Given the description of an element on the screen output the (x, y) to click on. 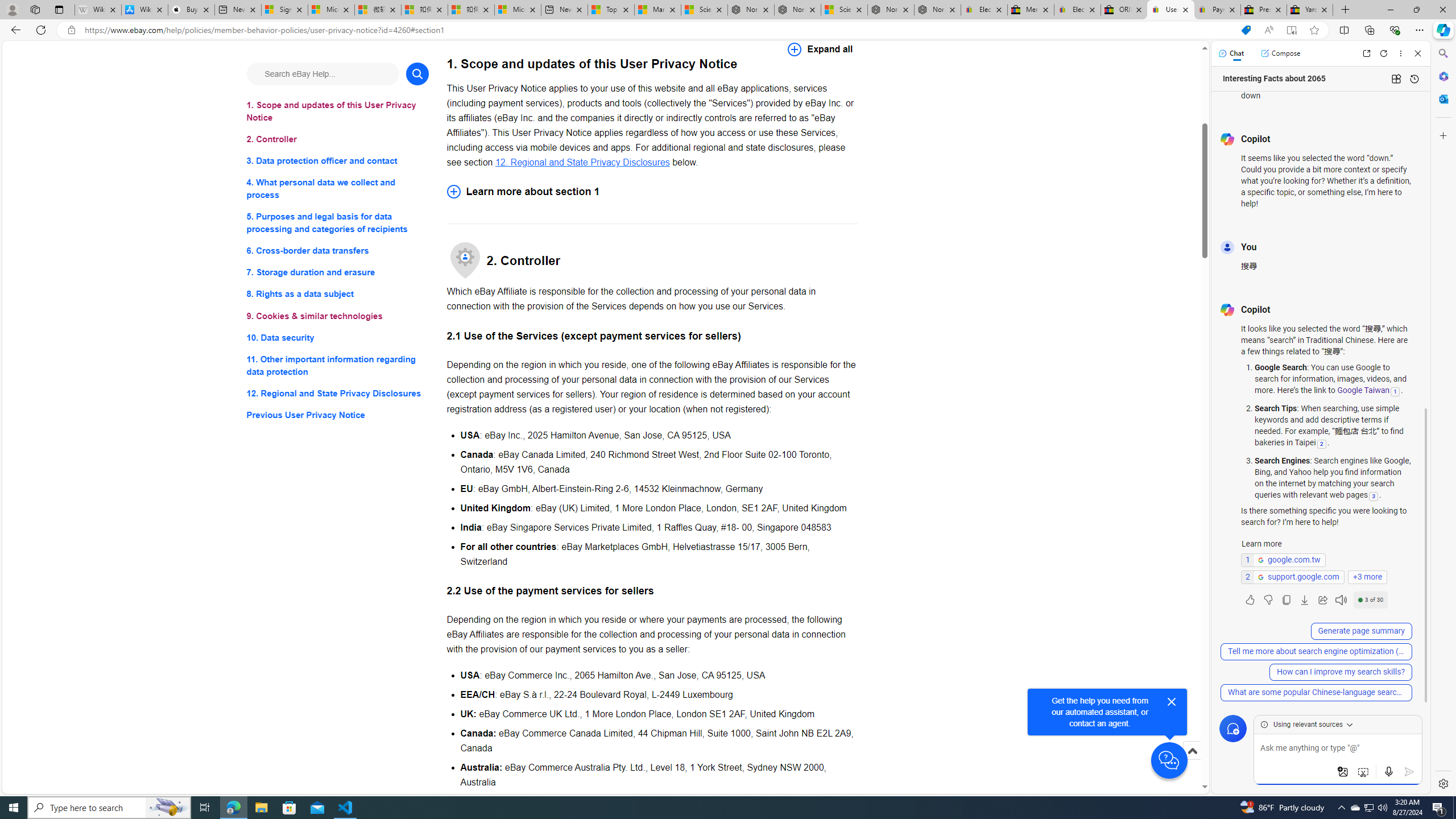
8. Rights as a data subject (337, 293)
11. Other important information regarding data protection (337, 365)
2. Controller (337, 138)
1. Scope and updates of this User Privacy Notice (337, 111)
Search eBay Help... (322, 73)
